Given the description of an element on the screen output the (x, y) to click on. 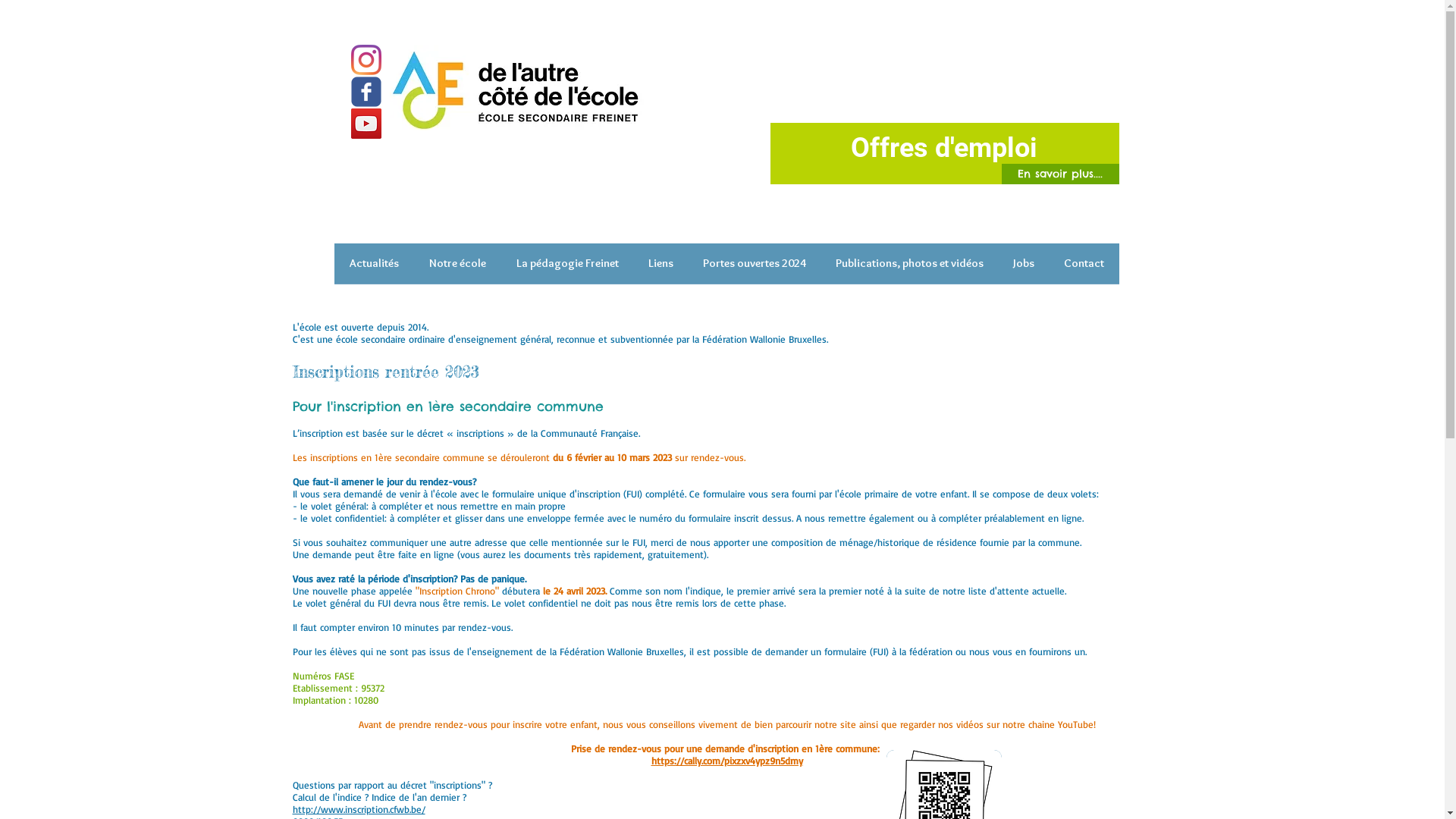
Liens Element type: text (660, 268)
Portes ouvertes 2024 Element type: text (754, 268)
Jobs Element type: text (1022, 268)
En savoir plus.... Element type: text (1059, 173)
http://www.inscription.cfwb.be/ Element type: text (358, 809)
ACE_LOGO_couleurs+ecolesecondaire.png Element type: hover (516, 87)
https://cally.com/pixzxv4ypz9n5dmy Element type: text (726, 760)
Contact Element type: text (1084, 268)
